Given the description of an element on the screen output the (x, y) to click on. 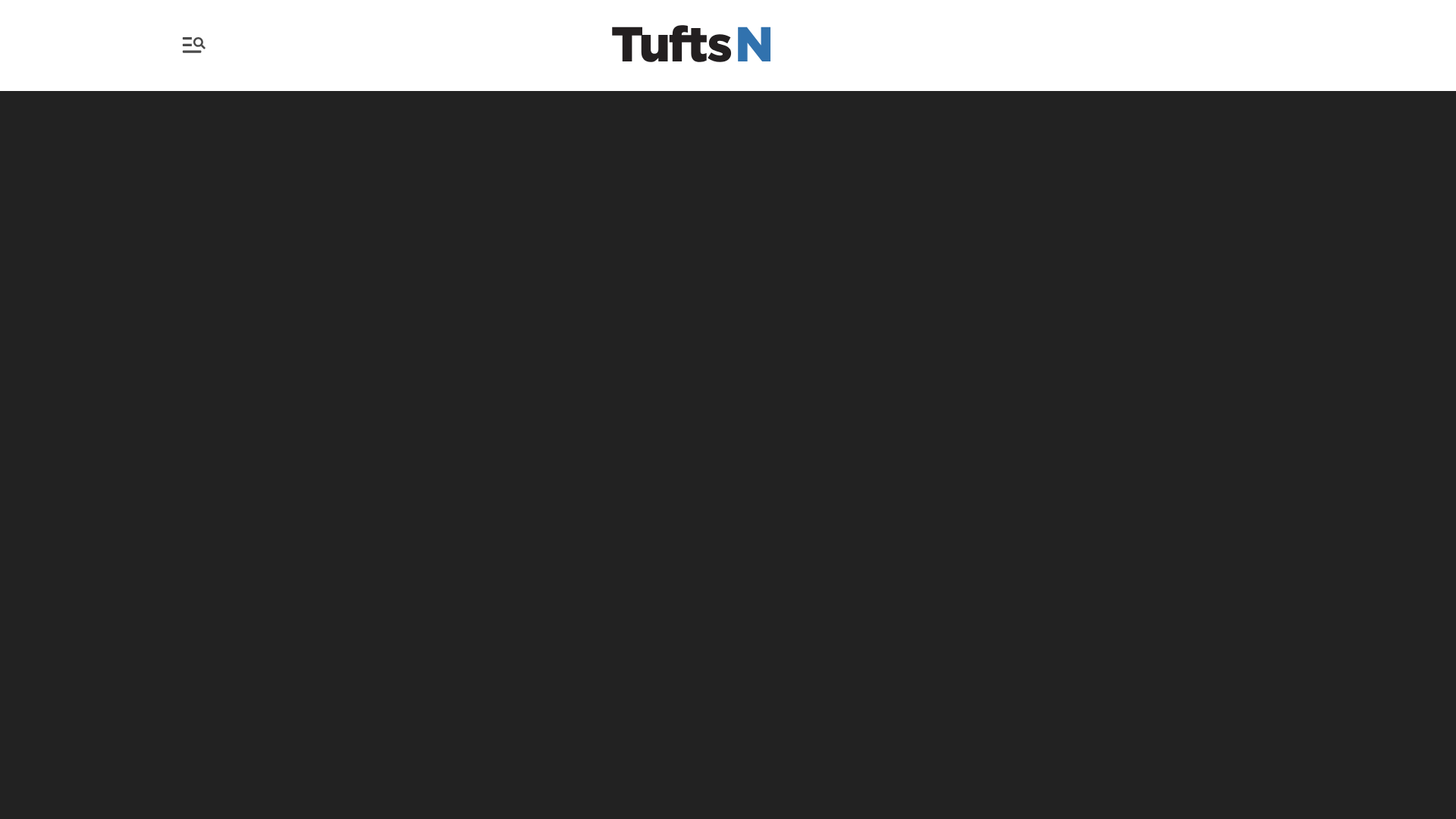
Menu (197, 45)
SKIP TO MAIN CONTENT (13, 9)
